Given the description of an element on the screen output the (x, y) to click on. 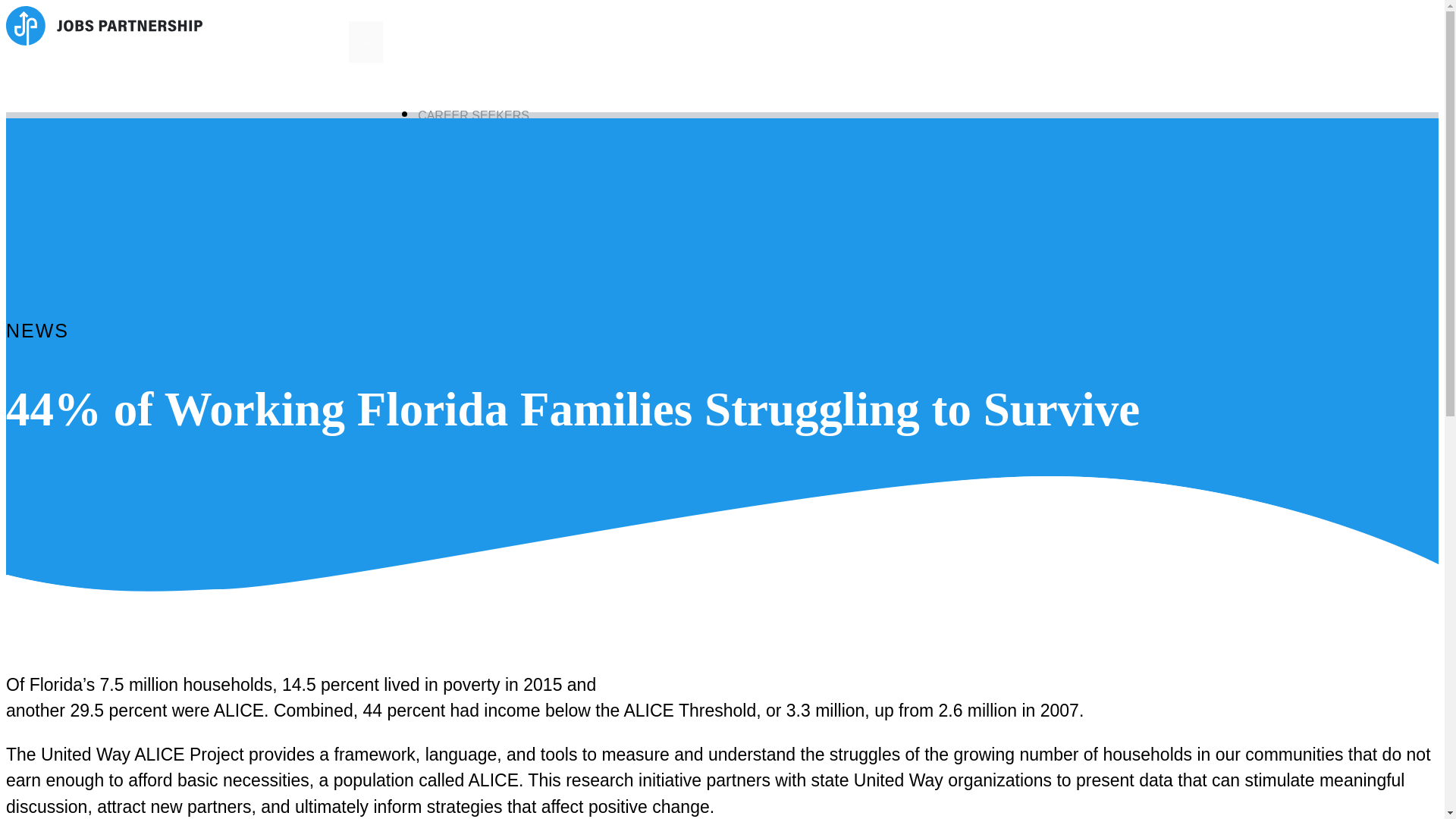
RESOURCES (467, 220)
CLASS SCHEDULE (484, 194)
MISSION (74, 180)
CAREER SEEKERS (473, 115)
HOW WE WORK (476, 141)
CONTACT (1116, 181)
CAREERS (1116, 207)
GET STARTED (471, 167)
ABOUT (1096, 128)
